Given the description of an element on the screen output the (x, y) to click on. 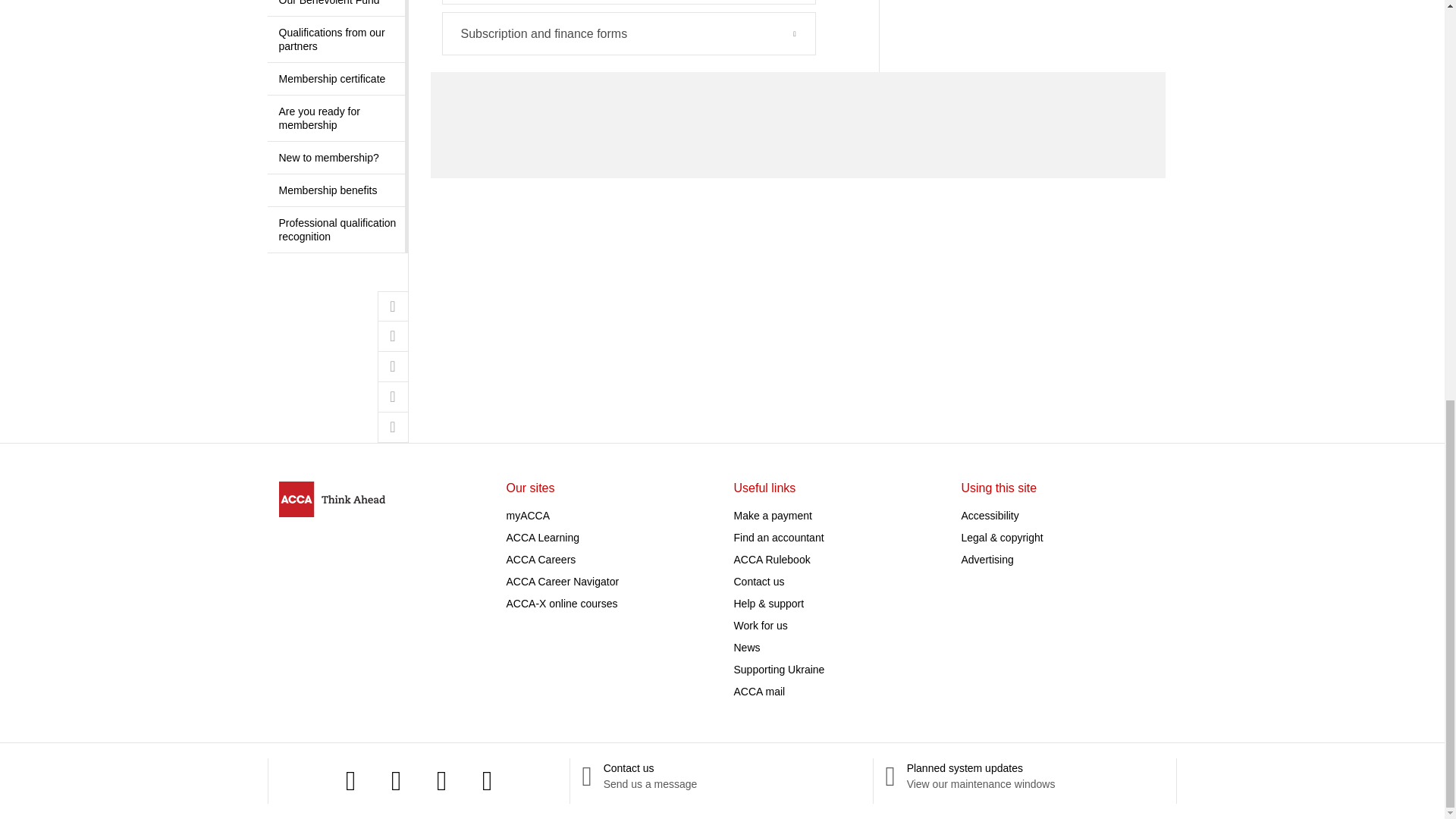
Accessibility (989, 515)
ACCA Career Navigator (563, 581)
News (746, 647)
ACCA mail (759, 691)
ACCA-X online courses (561, 603)
Find an accountant (778, 537)
ACCA Rulebook (771, 559)
myACCA (528, 515)
Work for us (760, 625)
Supporting Ukraine (779, 669)
ACCA Careers (541, 559)
Contact us (758, 581)
ACCA Learning (542, 537)
Make a payment (772, 515)
